Given the description of an element on the screen output the (x, y) to click on. 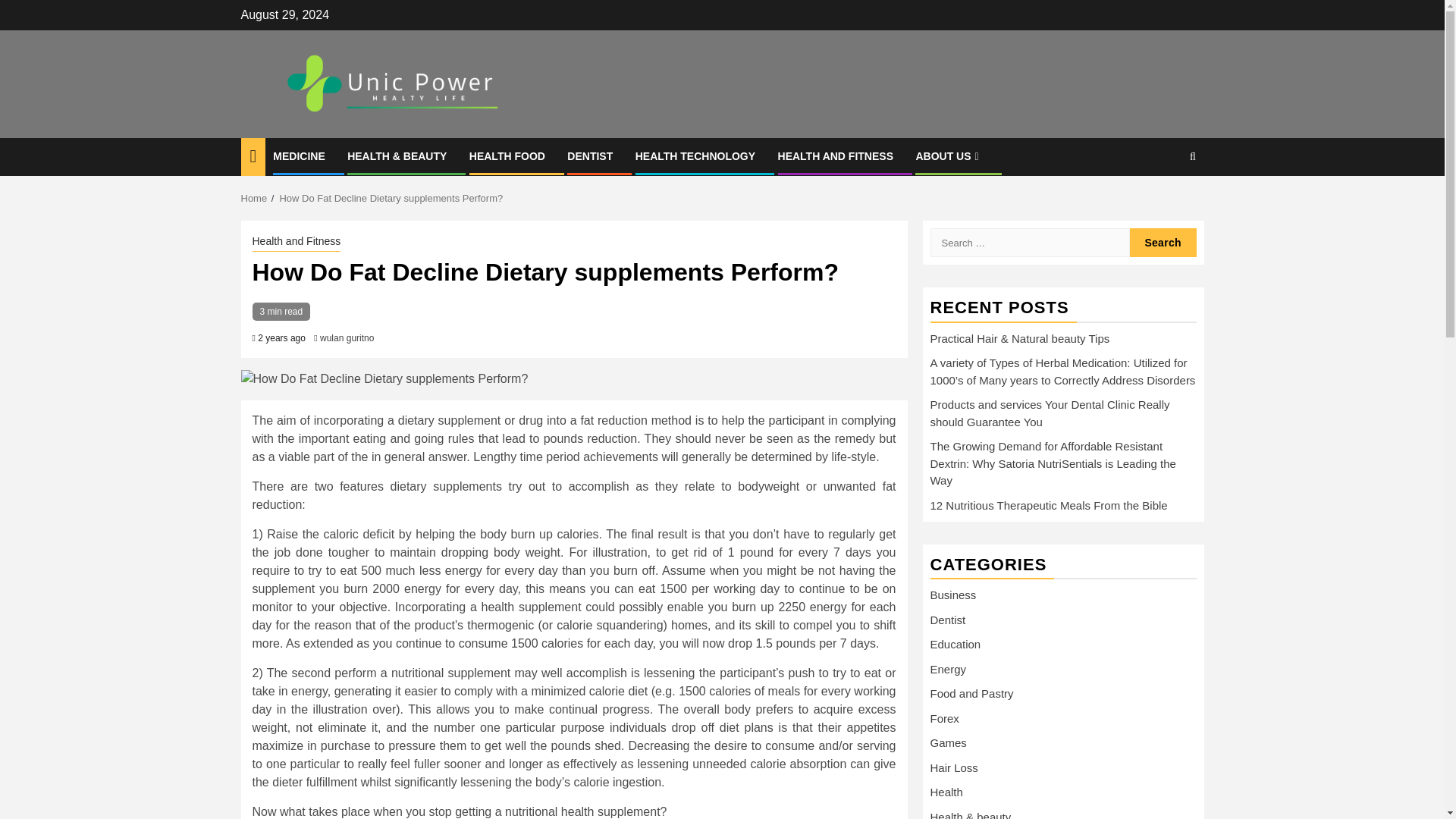
How Do Fat Decline Dietary supplements Perform? (390, 197)
HEALTH TECHNOLOGY (694, 155)
Home (254, 197)
ABOUT US (948, 155)
Search (1162, 242)
wulan guritno (347, 337)
DENTIST (589, 155)
HEALTH AND FITNESS (835, 155)
How Do Fat Decline Dietary supplements Perform? (574, 379)
